Given the description of an element on the screen output the (x, y) to click on. 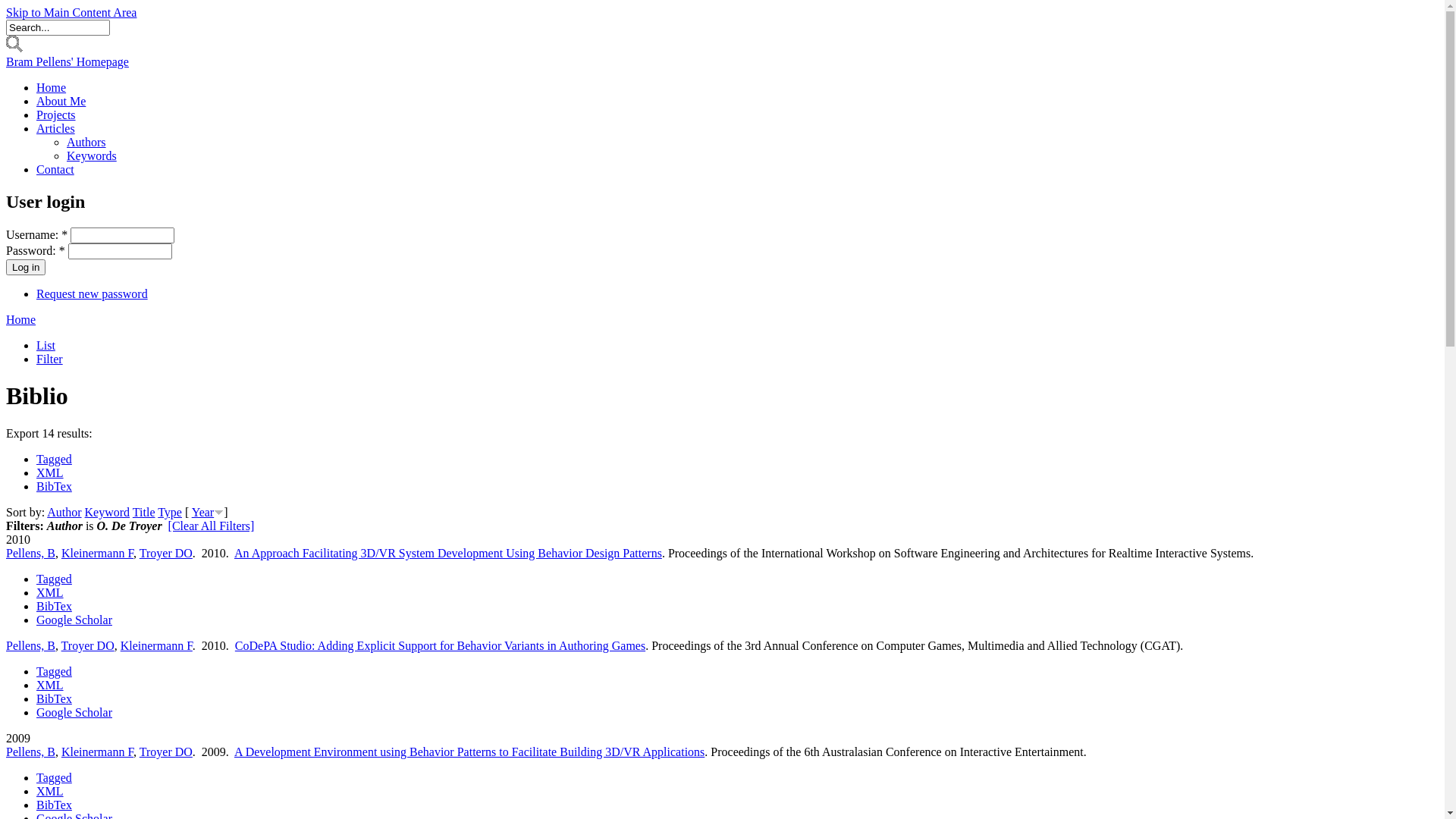
BibTex Element type: text (54, 804)
Troyer DO Element type: text (165, 751)
XML Element type: text (49, 472)
Enter the terms you wish to search for. Element type: hover (57, 27)
Skip to Main Content Area Element type: text (71, 12)
Keywords Element type: text (91, 155)
Articles Element type: text (55, 128)
Tagged Element type: text (54, 458)
Bram Pellens' Homepage Element type: text (67, 61)
Google Scholar Element type: text (74, 712)
Author Element type: text (64, 511)
Pellens, B Element type: text (30, 645)
About Me Element type: text (60, 100)
Request new password Element type: text (91, 293)
Kleinermann F Element type: text (97, 751)
Pellens, B Element type: text (30, 751)
Troyer DO Element type: text (165, 552)
Google Scholar Element type: text (74, 619)
[Clear All Filters] Element type: text (211, 525)
BibTex Element type: text (54, 698)
Title Element type: text (143, 511)
XML Element type: text (49, 592)
Home Element type: text (20, 319)
Pellens, B Element type: text (30, 552)
Projects Element type: text (55, 114)
XML Element type: text (49, 684)
Year Element type: text (202, 511)
Tagged Element type: text (54, 777)
Filter Element type: text (49, 358)
BibTex Element type: text (54, 605)
Keyword Element type: text (107, 511)
XML Element type: text (49, 790)
Kleinermann F Element type: text (97, 552)
Troyer DO Element type: text (87, 645)
List Element type: text (45, 344)
Type Element type: text (169, 511)
Kleinermann F Element type: text (156, 645)
BibTex Element type: text (54, 486)
Authors Element type: text (86, 141)
Log in Element type: text (25, 267)
Tagged Element type: text (54, 671)
Tagged Element type: text (54, 578)
Home Element type: text (50, 87)
Contact Element type: text (55, 169)
